Given the description of an element on the screen output the (x, y) to click on. 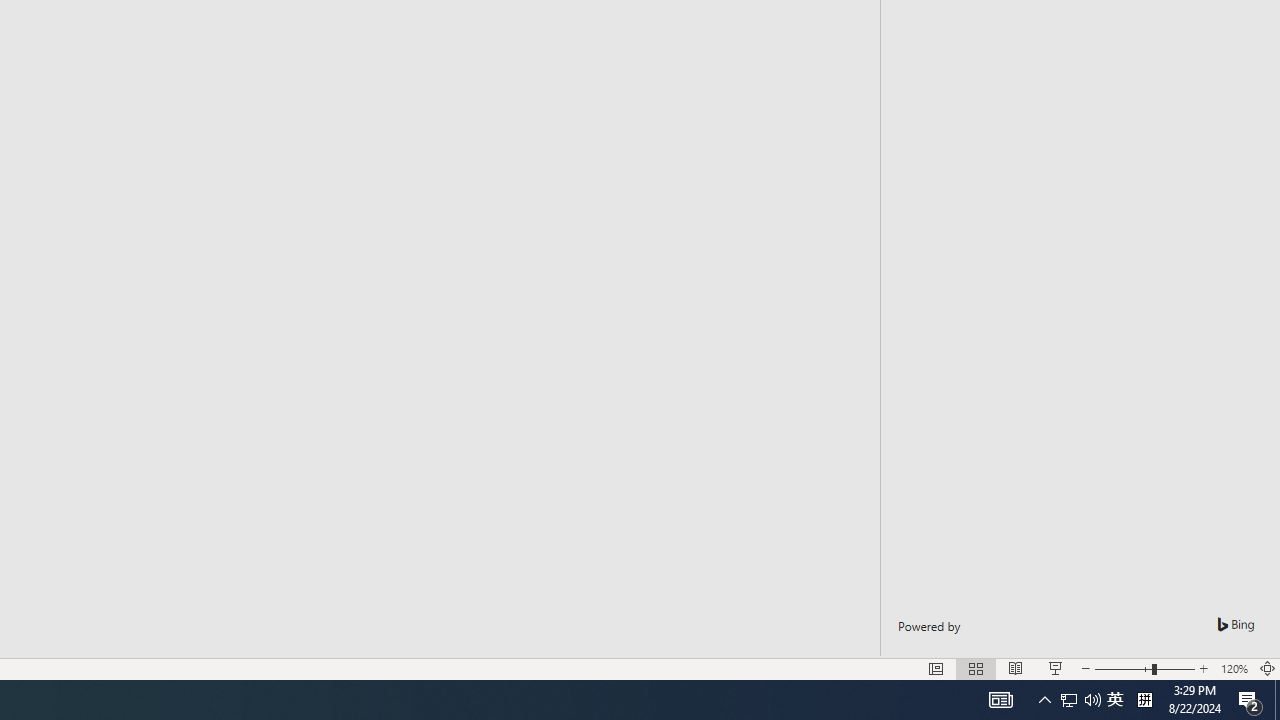
Zoom 120% (1234, 668)
